Given the description of an element on the screen output the (x, y) to click on. 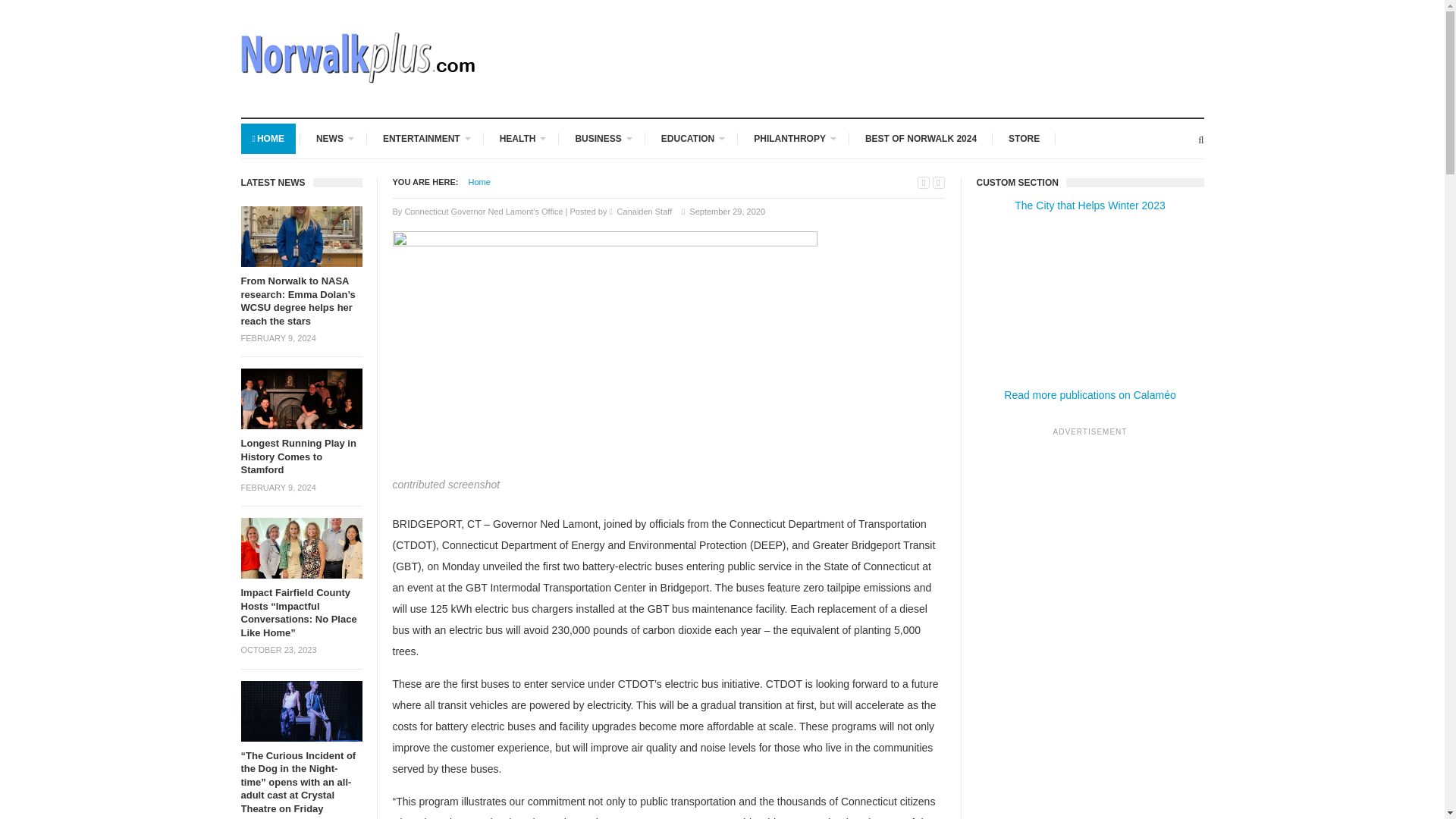
STORE (1024, 138)
Canaiden Staff (644, 211)
Home (479, 181)
EDUCATION (691, 138)
ENTERTAINMENT (425, 138)
HEALTH (520, 138)
NorwalkPlus.com (479, 181)
NEWS (333, 138)
Tuesday, September 29, 2020, 5:33 am (726, 211)
HOME (268, 138)
BUSINESS (601, 138)
PHILANTHROPY (793, 138)
BEST OF NORWALK 2024 (920, 138)
